Given the description of an element on the screen output the (x, y) to click on. 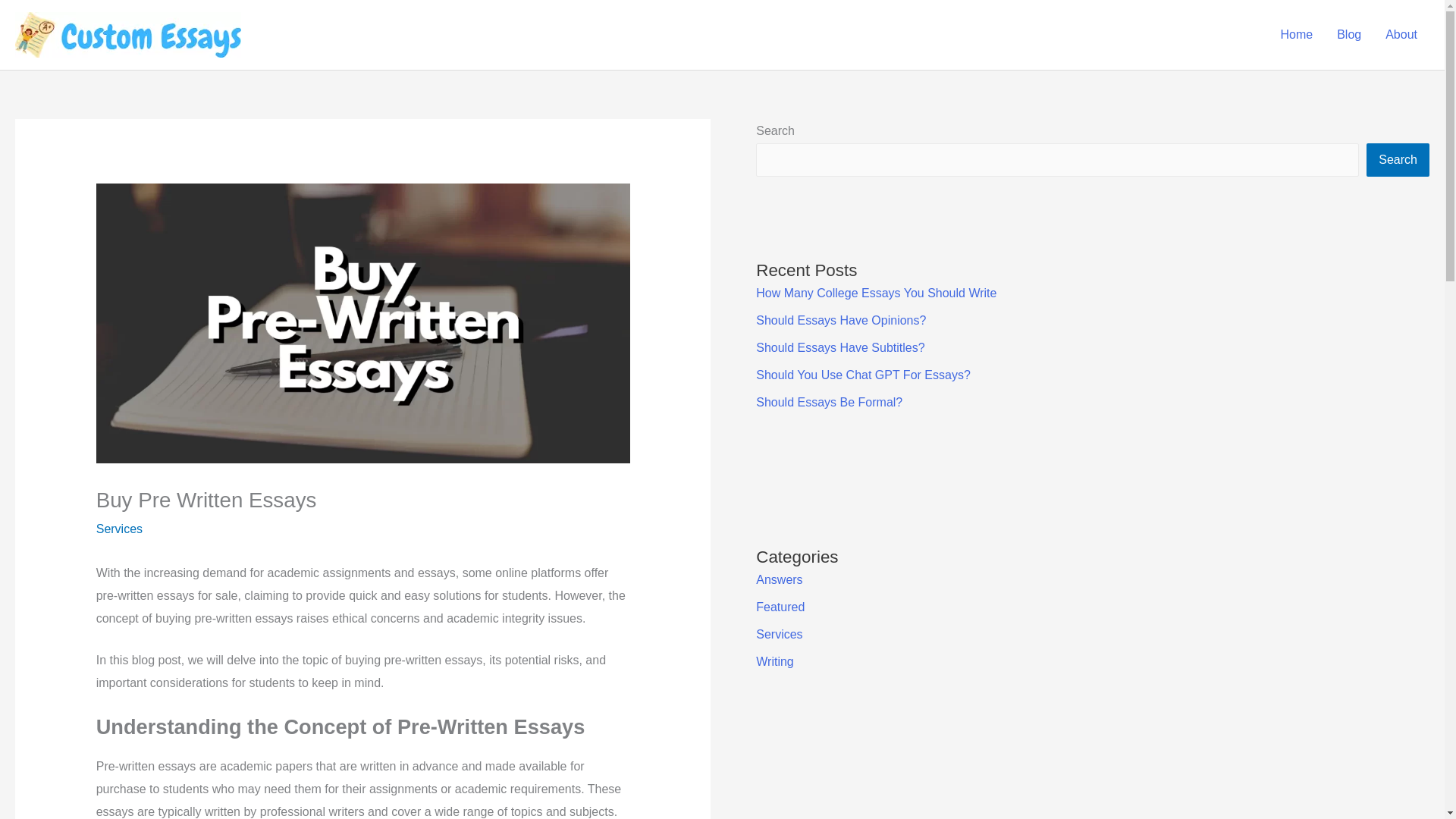
Services (119, 528)
Home (1296, 34)
Blog (1348, 34)
About (1401, 34)
